Given the description of an element on the screen output the (x, y) to click on. 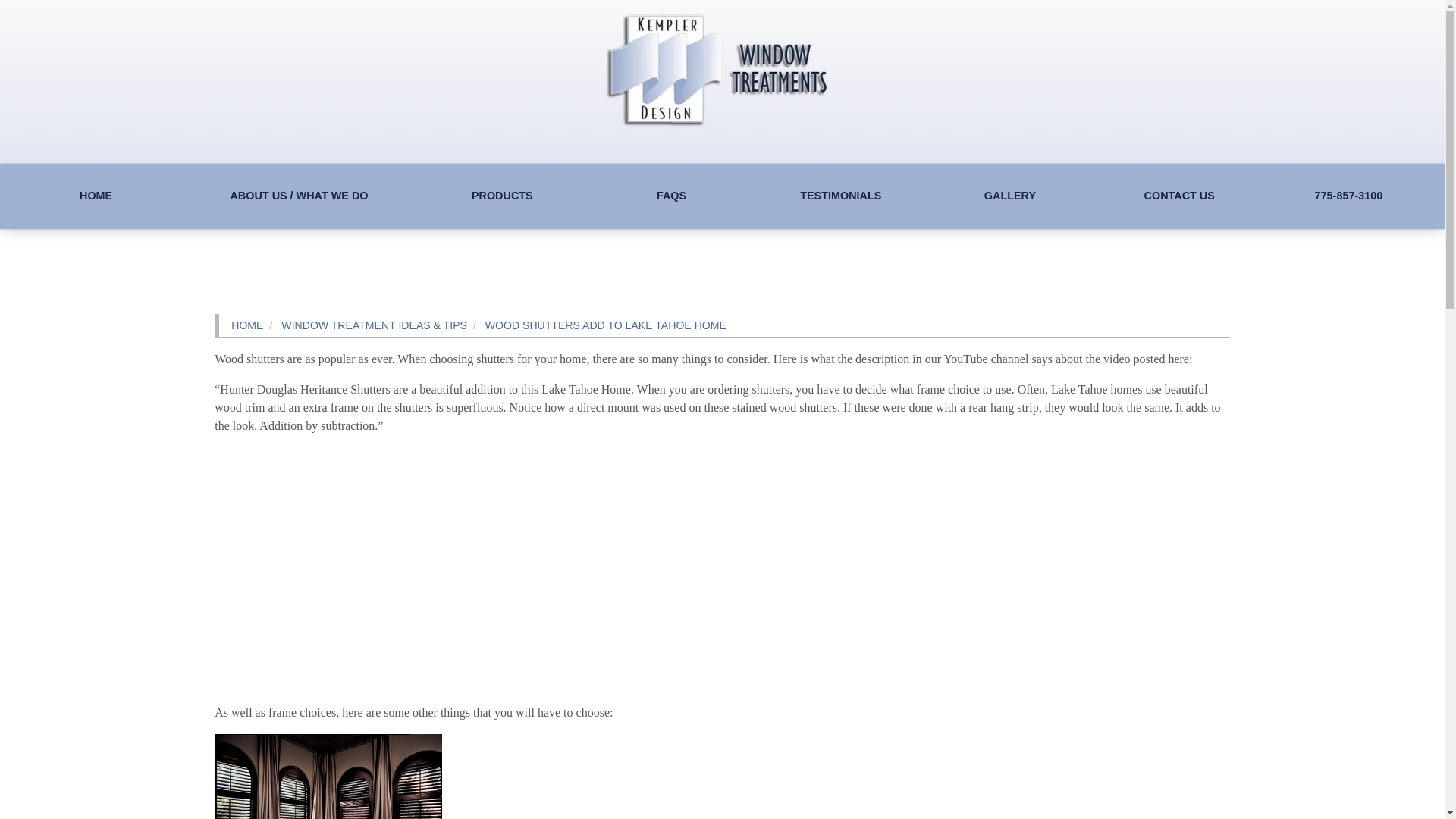
PRODUCTS (501, 196)
HOME (95, 196)
